Given the description of an element on the screen output the (x, y) to click on. 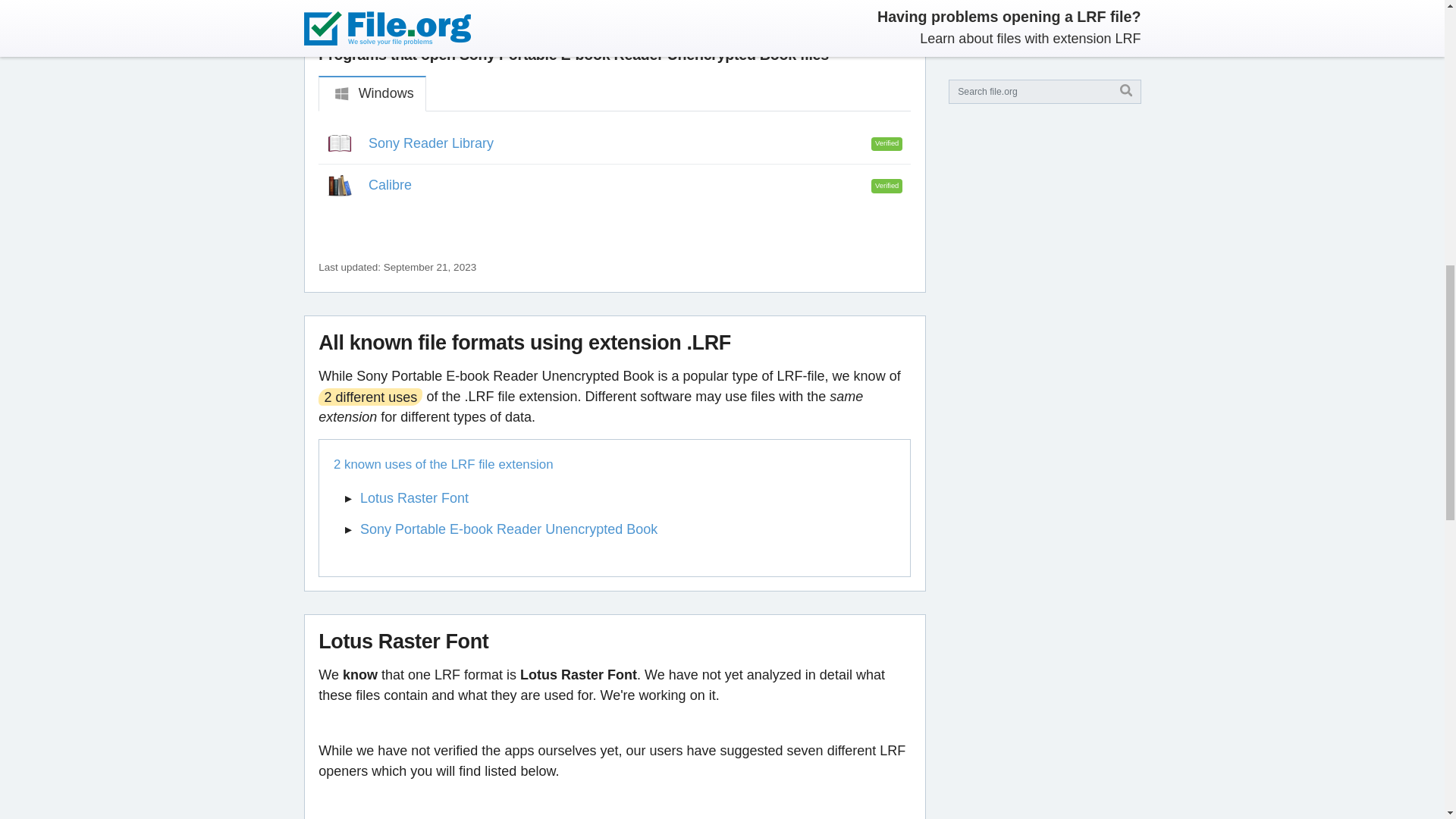
Sony Portable E-book Reader Unencrypted Book (508, 529)
Lotus Raster Font (413, 498)
2 known uses of the LRF file extension (609, 464)
Sony Reader Library (430, 142)
Calibre (390, 184)
